Given the description of an element on the screen output the (x, y) to click on. 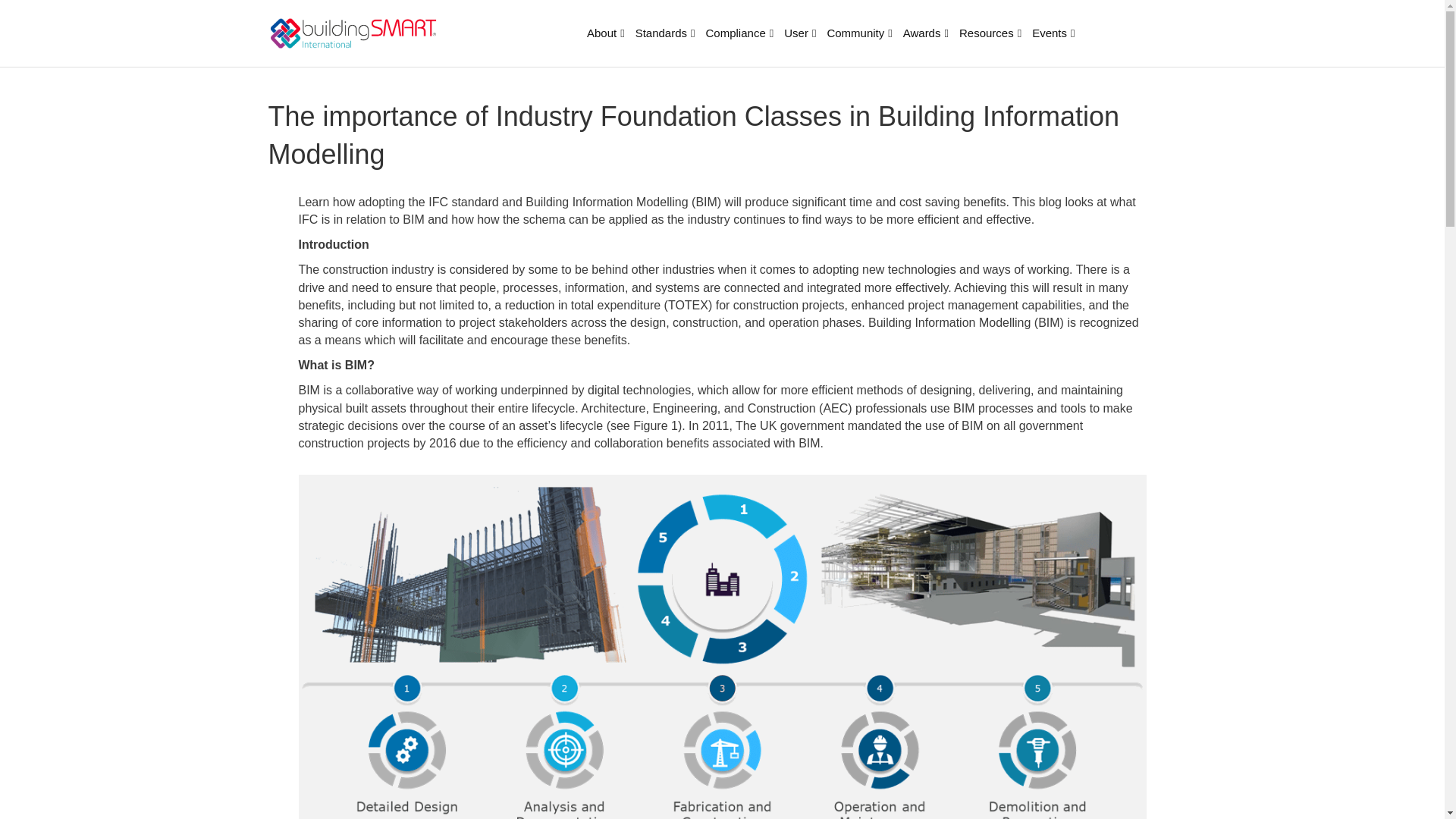
About (605, 33)
Standards (665, 33)
